Given the description of an element on the screen output the (x, y) to click on. 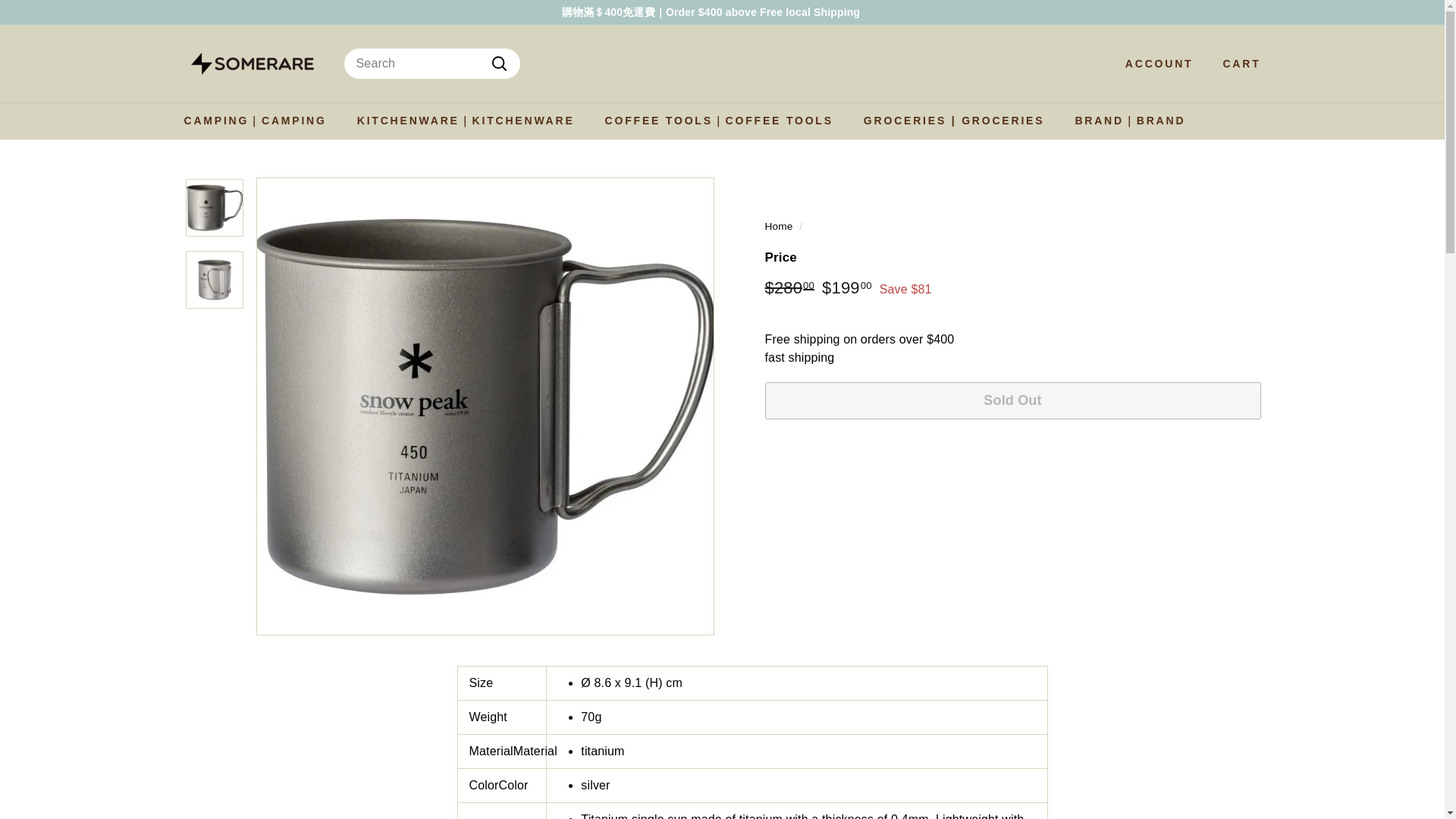
Instagram (1256, 12)
Back to the frontpage (778, 225)
CART (1235, 63)
Facebook (1248, 12)
Somerare on Facebook (1248, 12)
ACCOUNT (1153, 63)
Somerare on Instagram (1256, 12)
